Given the description of an element on the screen output the (x, y) to click on. 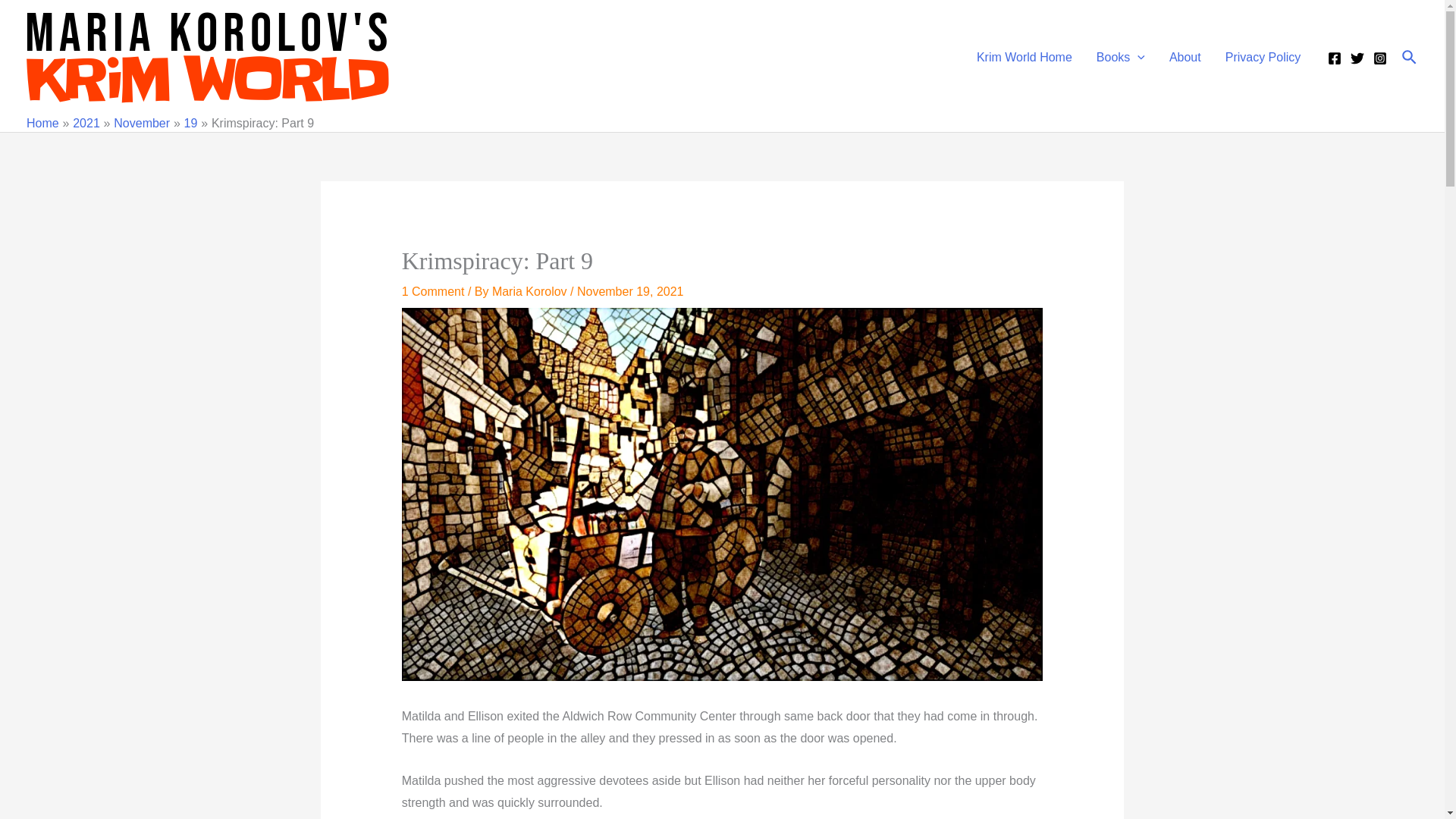
About (1184, 57)
Home (42, 123)
2021 (86, 123)
Books (1120, 57)
View all posts by Maria Korolov (531, 291)
Privacy Policy (1262, 57)
November (141, 123)
Krim World Home (1023, 57)
19 (191, 123)
